Given the description of an element on the screen output the (x, y) to click on. 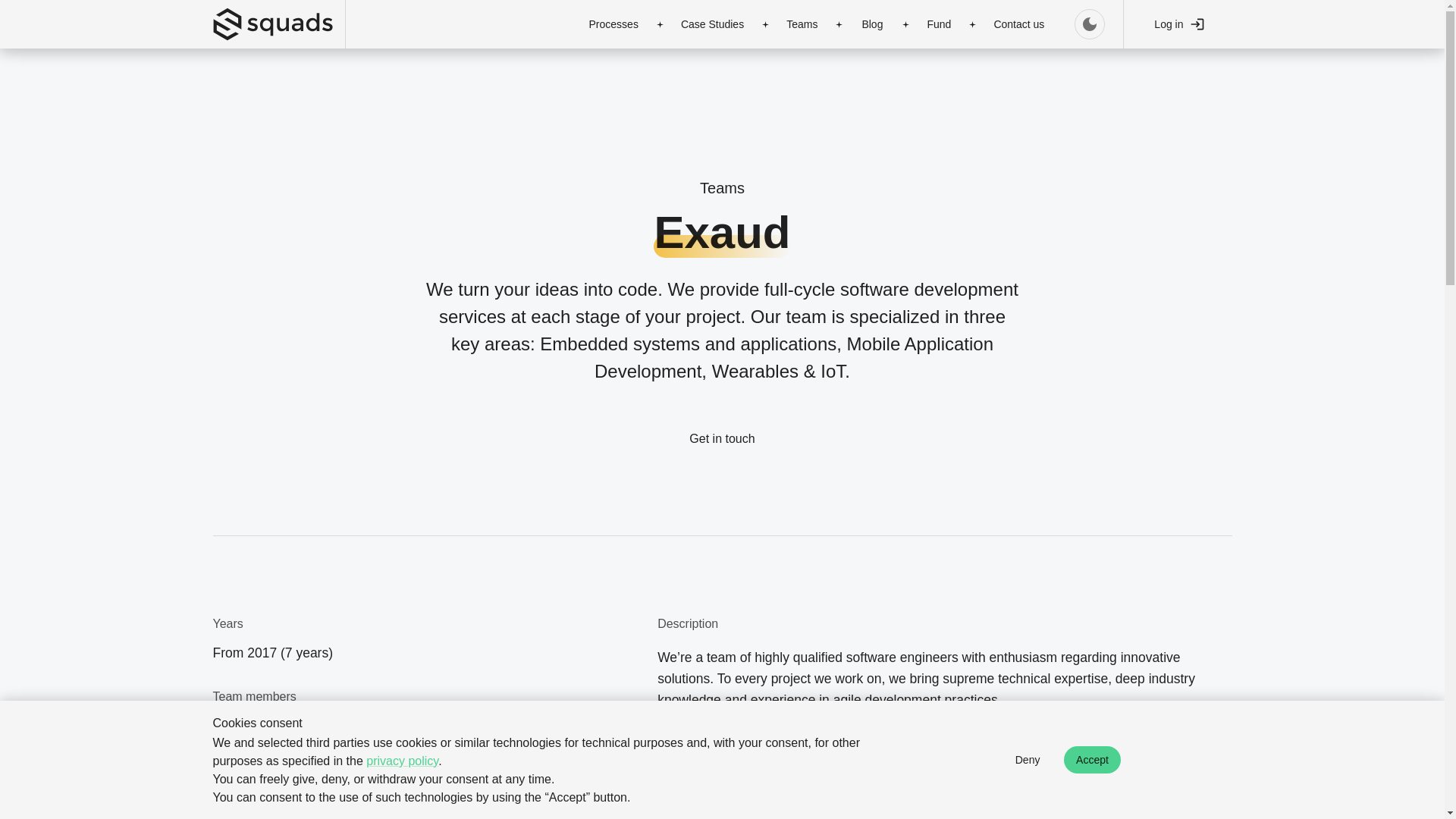
Processes (613, 24)
Teams (801, 24)
light (1089, 24)
Deny (1027, 759)
privacy policy (402, 760)
Get in touch (721, 438)
Blog (871, 24)
Contact us (1019, 24)
Case Studies (711, 24)
Accept (1092, 759)
